Given the description of an element on the screen output the (x, y) to click on. 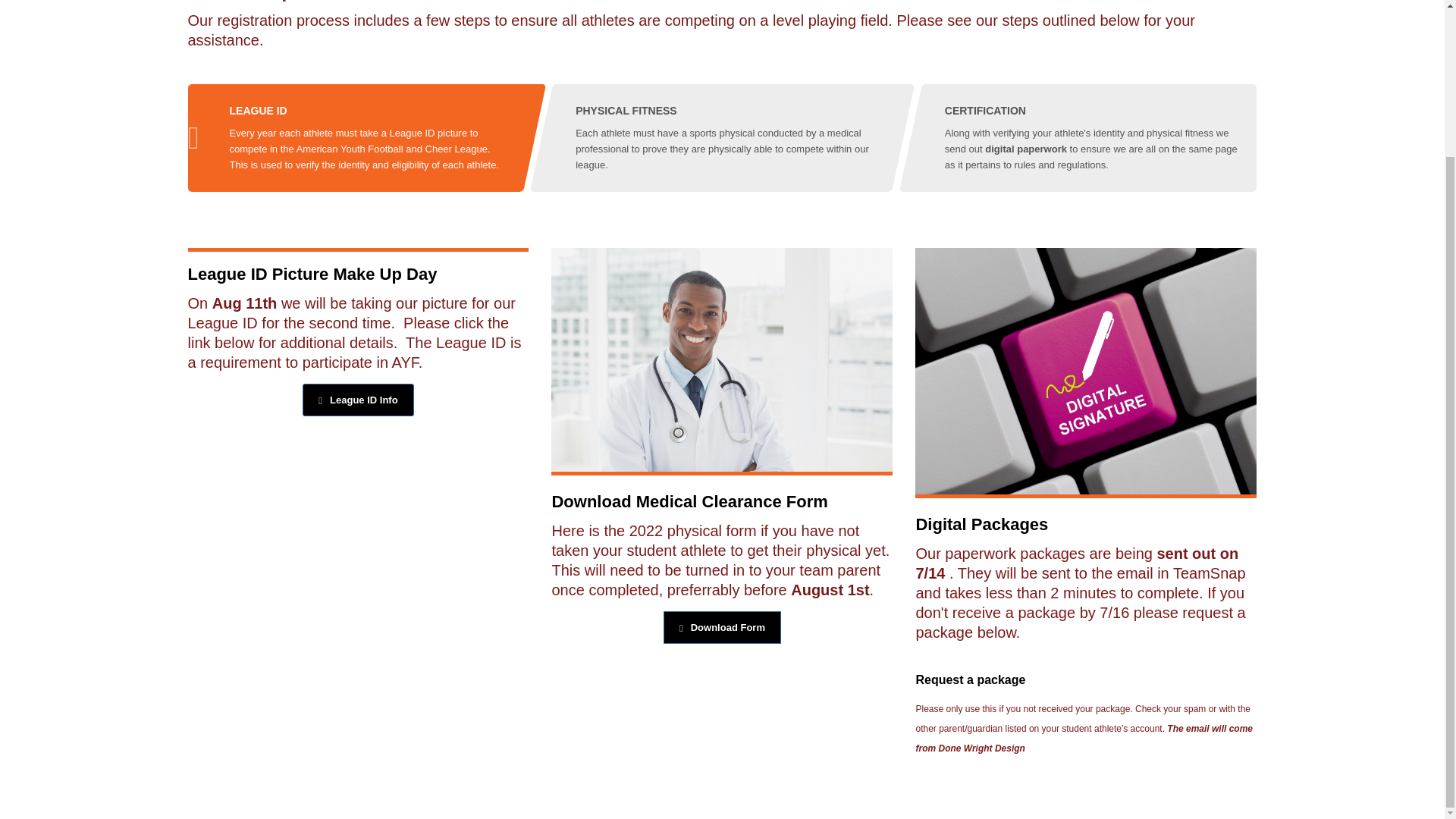
Click me (357, 400)
Click me (721, 626)
League ID Info (357, 400)
Download Form (721, 626)
